Given the description of an element on the screen output the (x, y) to click on. 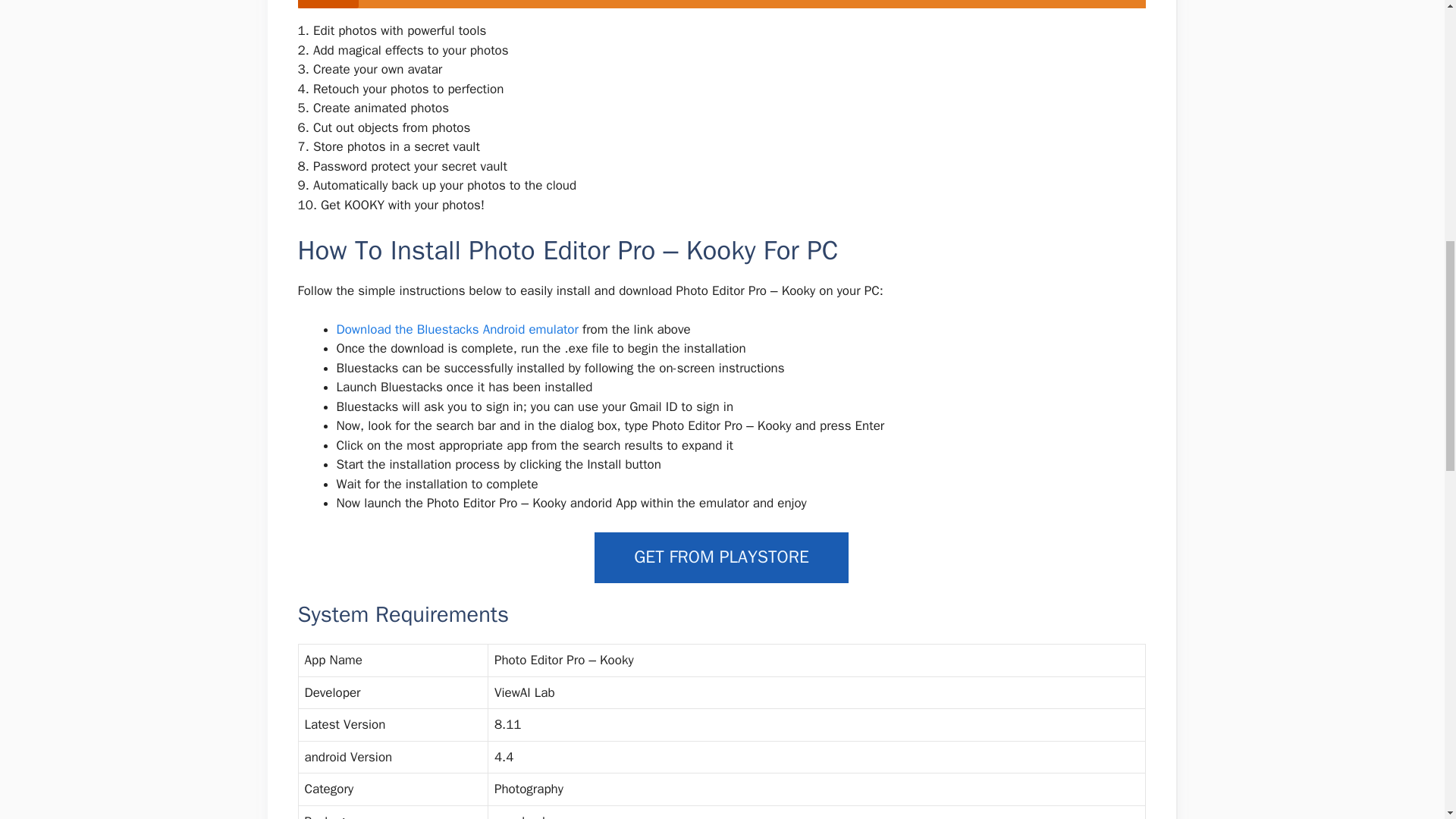
GET FROM PLAYSTORE (721, 557)
Download the Bluestacks Android emulator (459, 329)
GET FROM PLAYSTORE (721, 557)
